Given the description of an element on the screen output the (x, y) to click on. 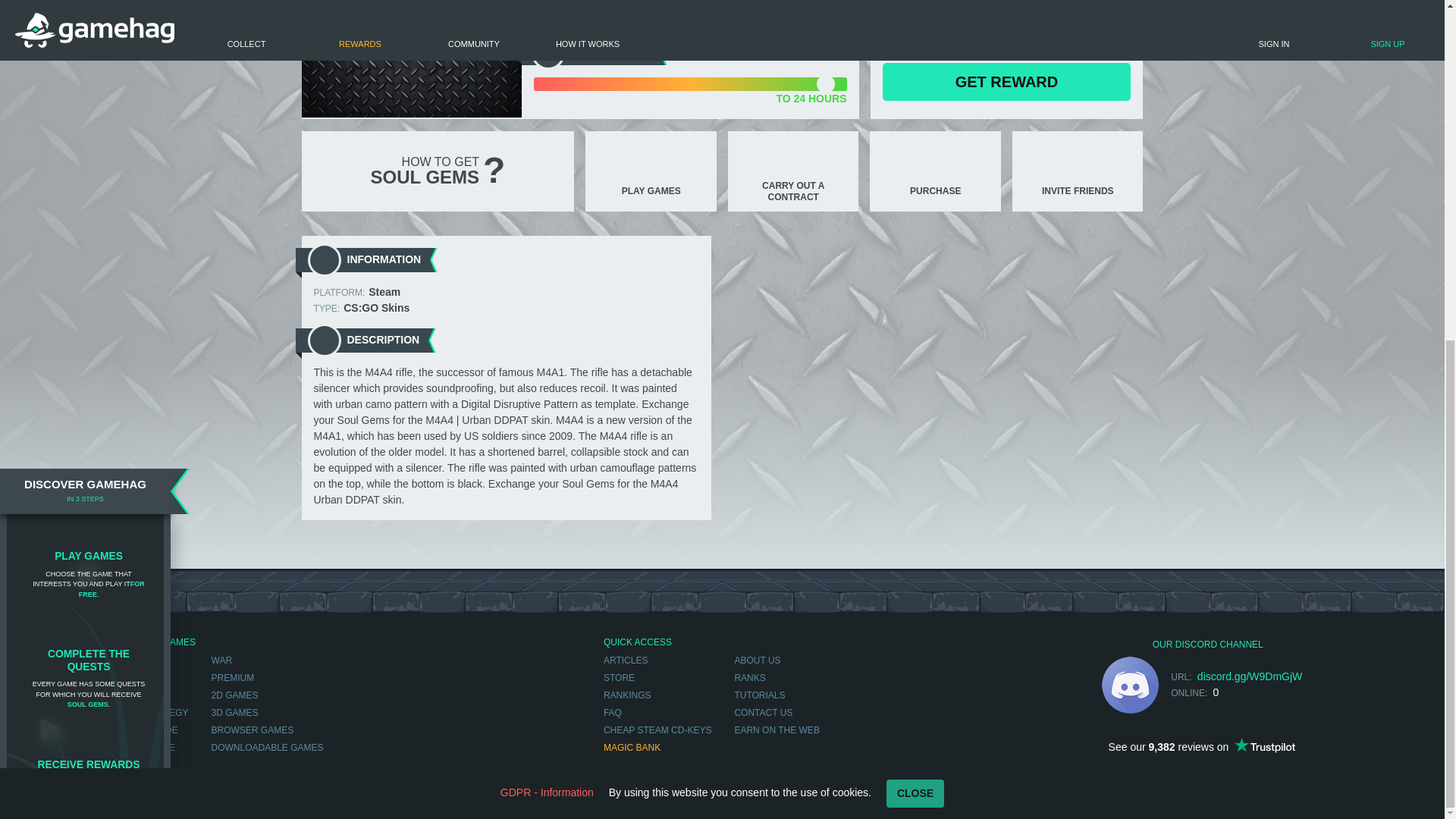
GET REWARD (1006, 81)
PLAY GAMES (650, 171)
CARRY OUT A CONTRACT (793, 171)
INVITE FRIENDS (1076, 171)
ALL (164, 660)
Customer reviews powered by Trustpilot (1201, 746)
PURCHASE (935, 171)
